Given the description of an element on the screen output the (x, y) to click on. 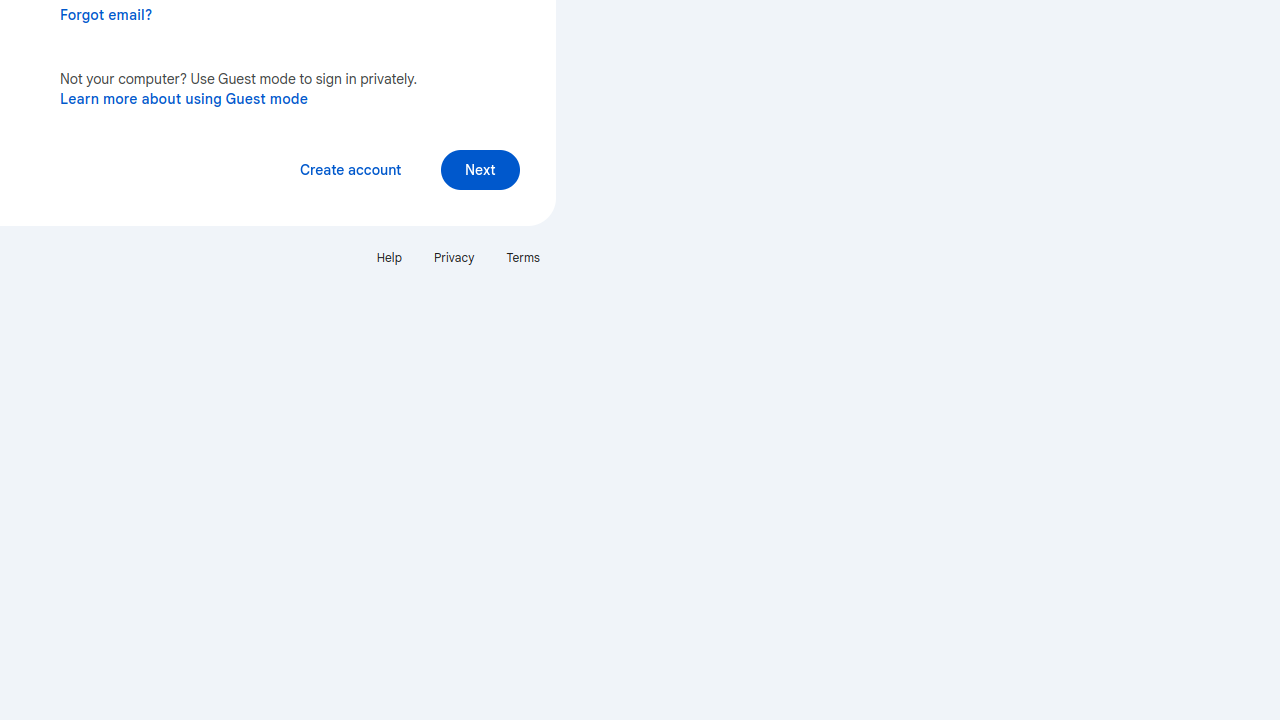
Learn more about using Guest mode Element type: link (184, 98)
